Given the description of an element on the screen output the (x, y) to click on. 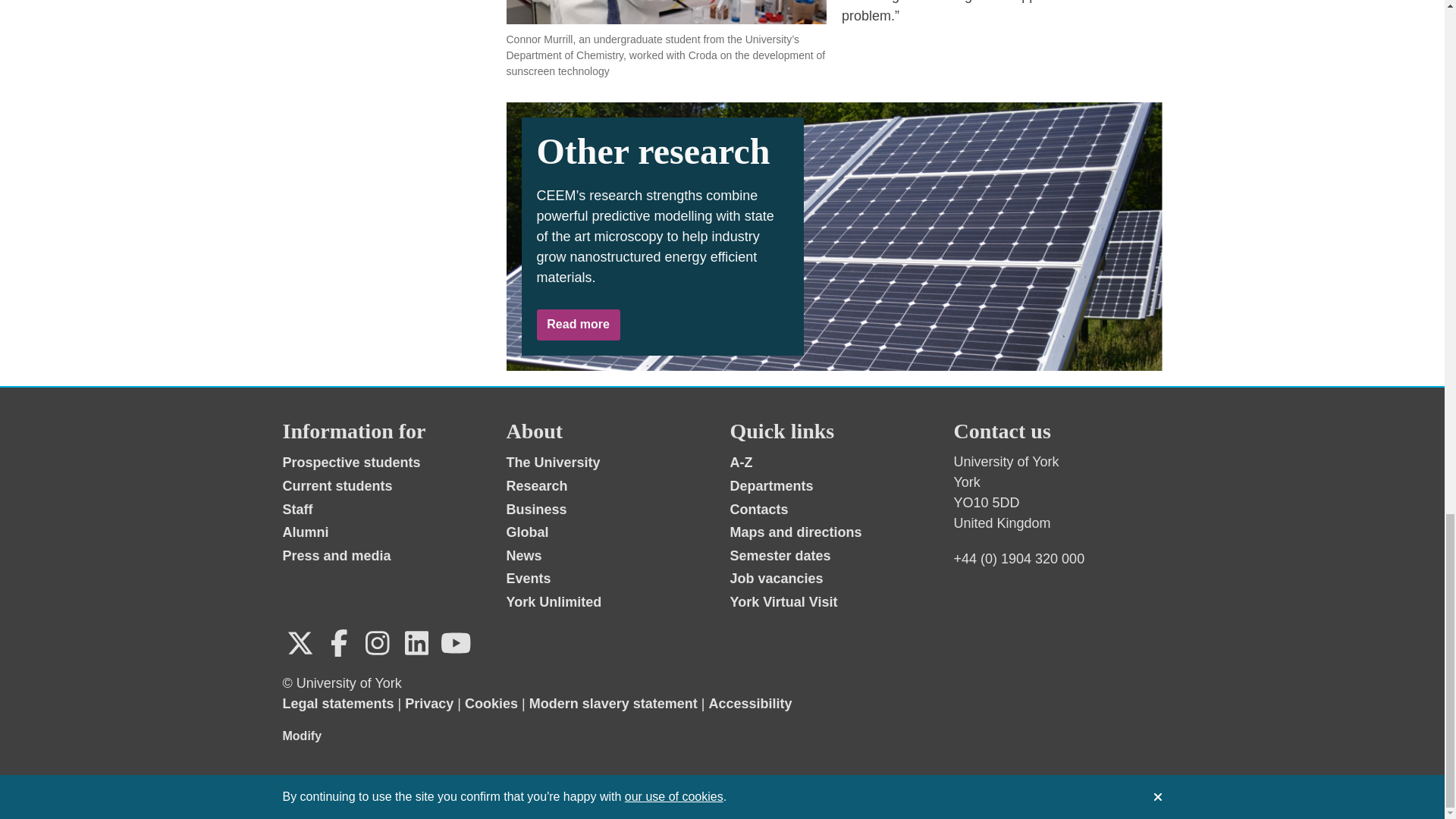
Staff (297, 509)
Like us on Facebook (338, 642)
Watch our videos on YouTube (455, 642)
Alumni (305, 531)
Follow us on Instagram (376, 642)
Follow us on X (299, 642)
Press and media (336, 555)
Follow us on LinkedIn (415, 642)
Read more (578, 324)
Current students (336, 485)
Prospective students (351, 462)
The University (552, 462)
